Given the description of an element on the screen output the (x, y) to click on. 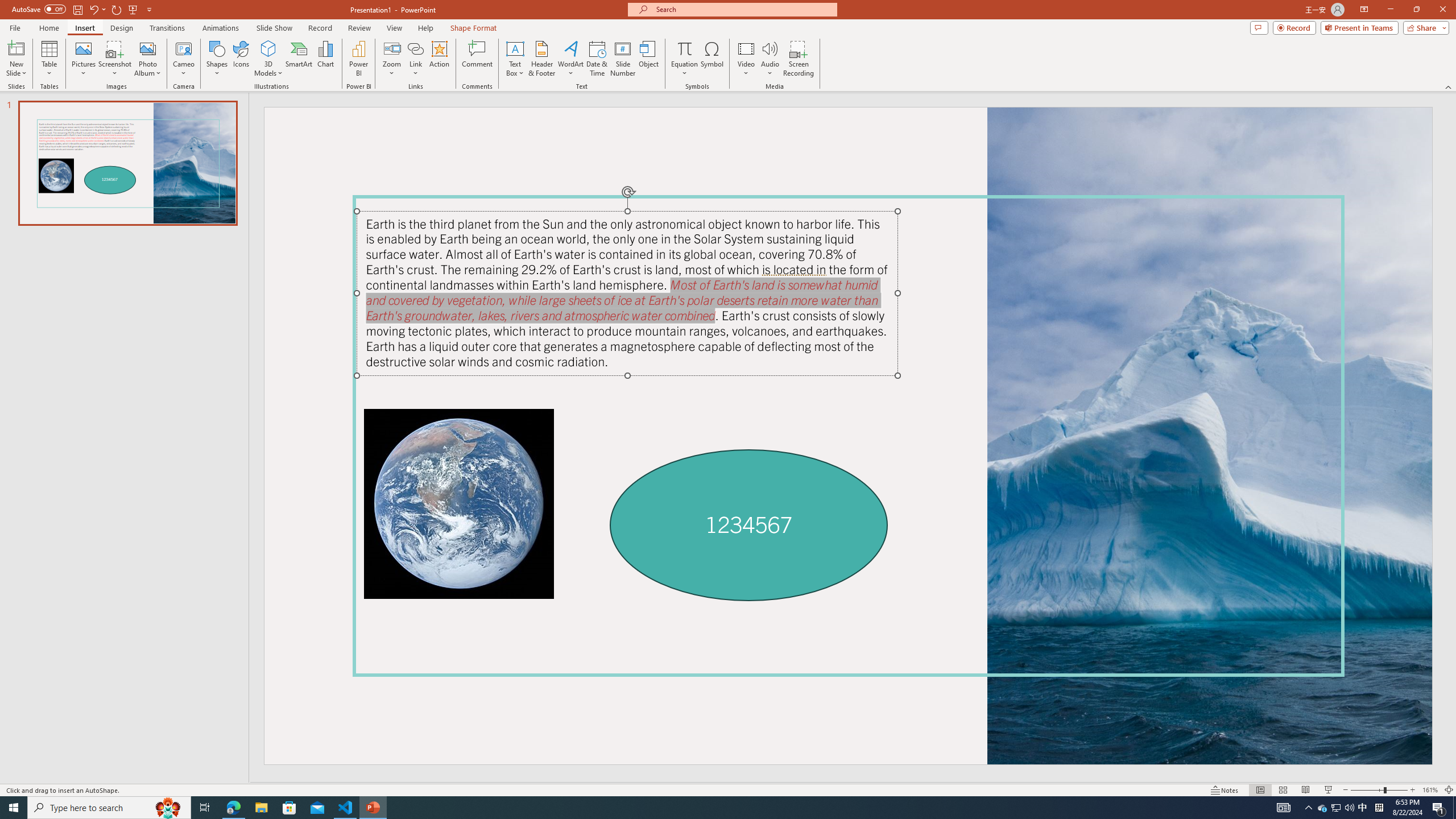
Slide Number (622, 58)
Symbol... (711, 58)
Screen Recording... (798, 58)
